Given the description of an element on the screen output the (x, y) to click on. 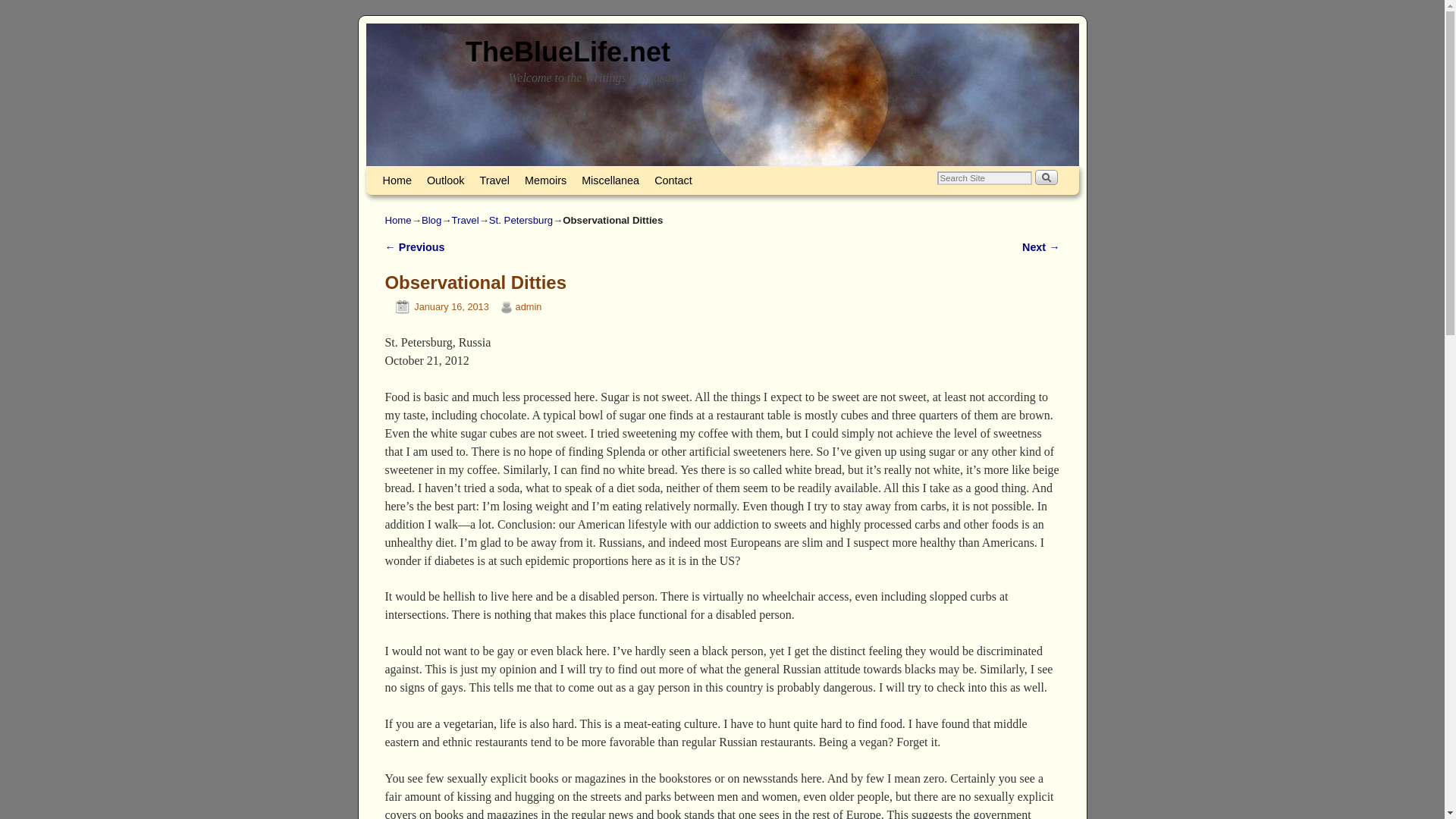
Outlook (445, 180)
12:36 AM (437, 306)
St. Petersburg (521, 220)
Travel (493, 180)
Travel (465, 220)
TheBlueLife.net (567, 51)
Skip to primary content (408, 172)
admin (528, 306)
Blog (431, 220)
Home (396, 180)
View all posts by admin (528, 306)
Skip to secondary content (412, 172)
Contact (673, 180)
Home (398, 220)
Miscellanea (609, 180)
